Given the description of an element on the screen output the (x, y) to click on. 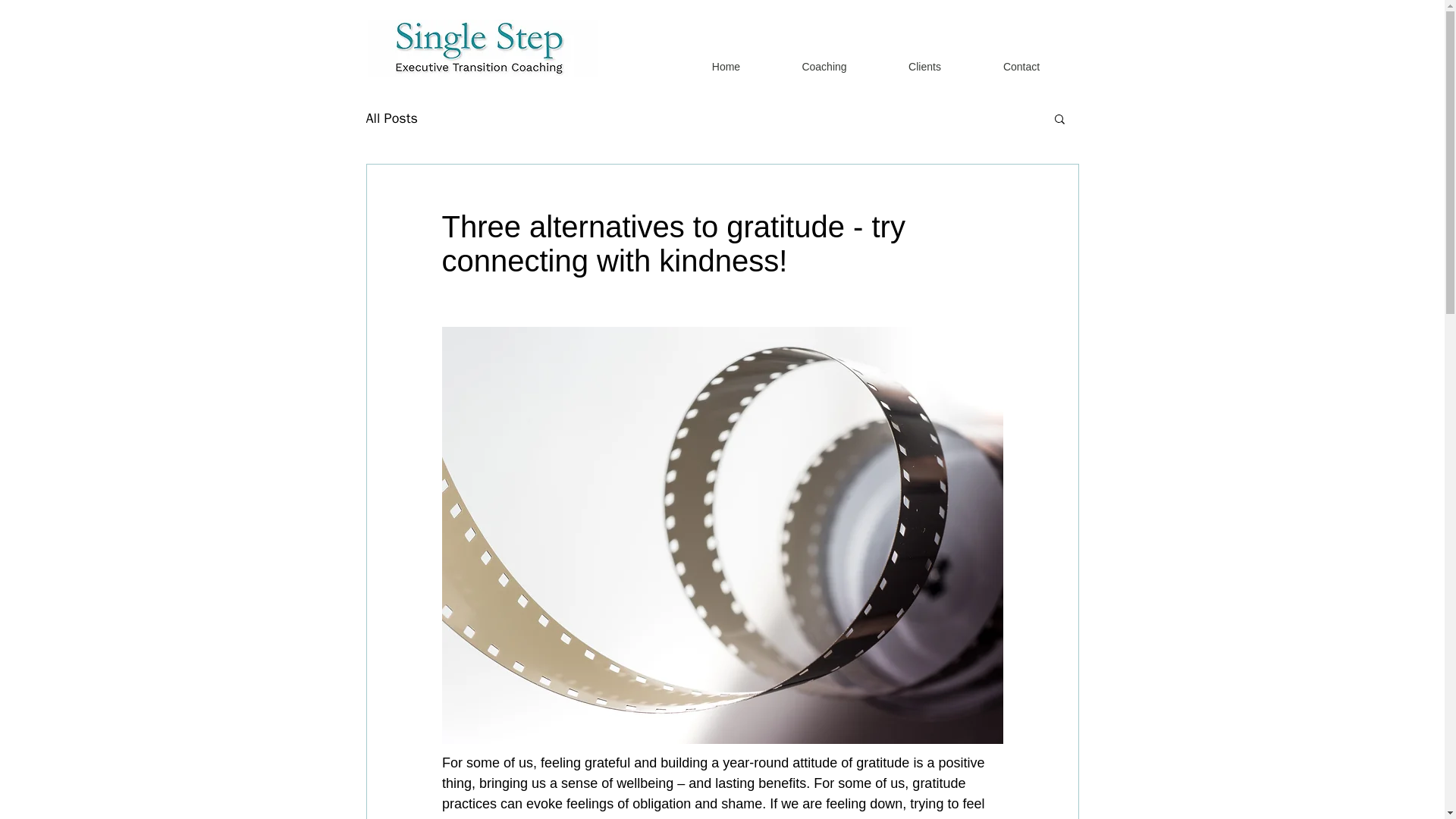
Home (725, 66)
All Posts (390, 117)
Contact (1021, 66)
Clients (924, 66)
Coaching (823, 66)
